Given the description of an element on the screen output the (x, y) to click on. 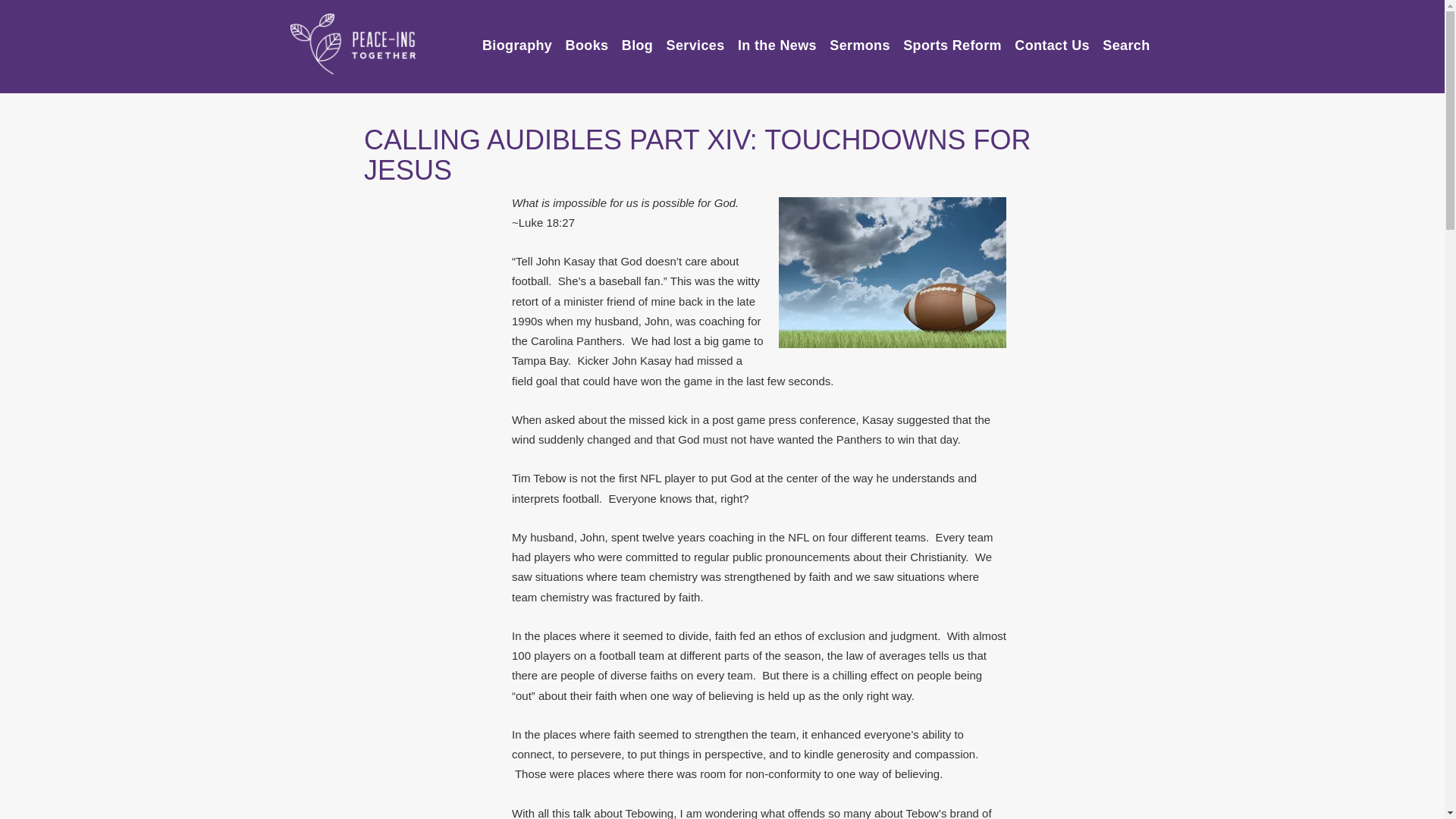
Search (1126, 38)
Sports Reform (951, 38)
Services (695, 38)
Biography (516, 38)
iStock football and sky (892, 272)
In the News (777, 38)
Contact Us (1051, 38)
Home (351, 43)
Sermons (859, 38)
